Given the description of an element on the screen output the (x, y) to click on. 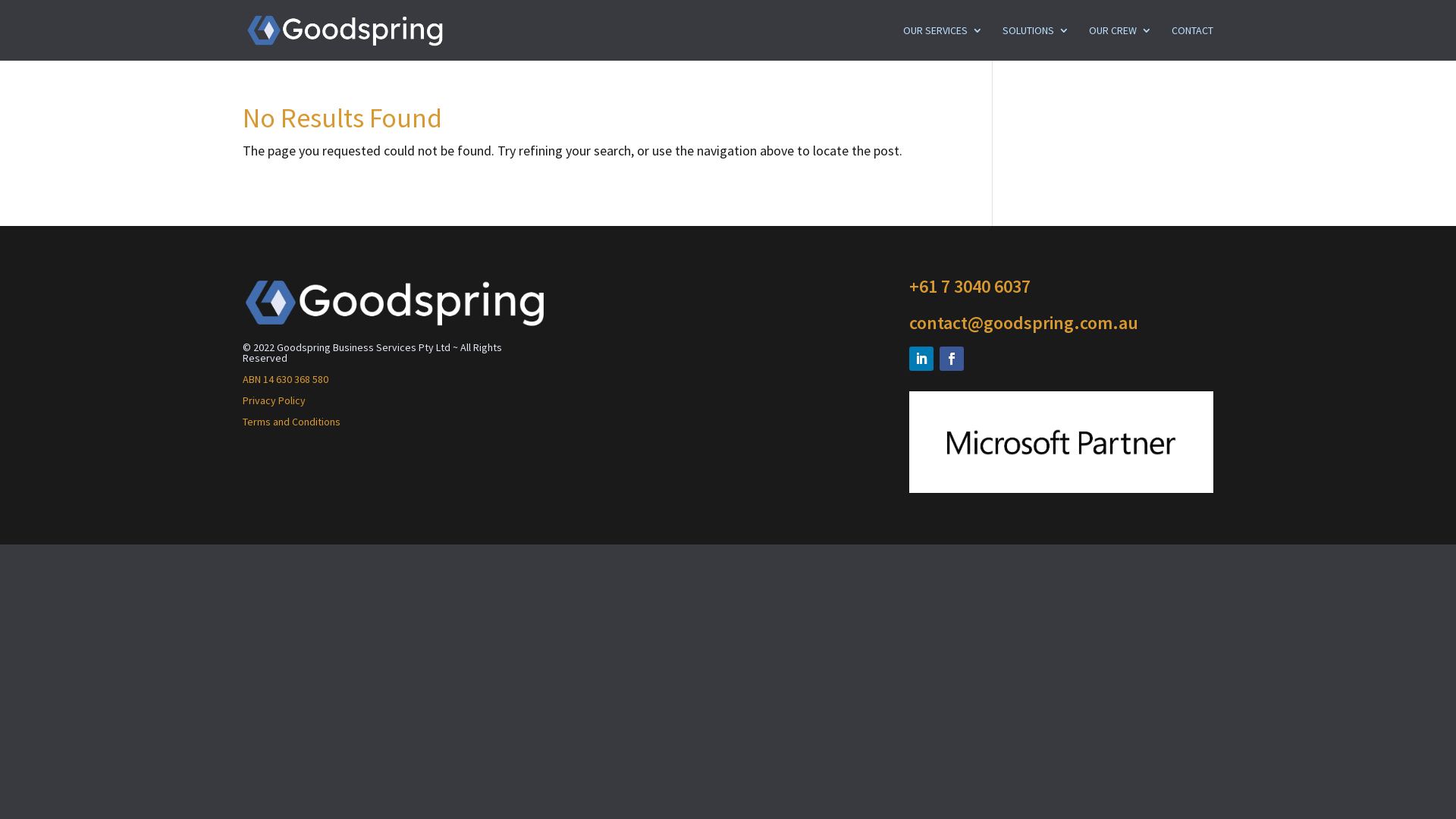
OUR SERVICES Element type: text (942, 42)
SOLUTIONS Element type: text (1035, 42)
contact@goodspring.com.au Element type: text (1023, 322)
ABN 14 630 368 580 Element type: text (285, 378)
CONTACT Element type: text (1192, 42)
Goodspring MS Partner White Element type: hover (1061, 441)
Privacy Policy Element type: text (273, 400)
Follow on Facebook Element type: hover (951, 358)
OUR CREW Element type: text (1119, 42)
Terms and Conditions Element type: text (291, 421)
Follow on LinkedIn Element type: hover (921, 358)
+61 7 3040 6037 Element type: text (969, 286)
GBS-Logo-Full-White-1000w Element type: hover (394, 302)
